Given the description of an element on the screen output the (x, y) to click on. 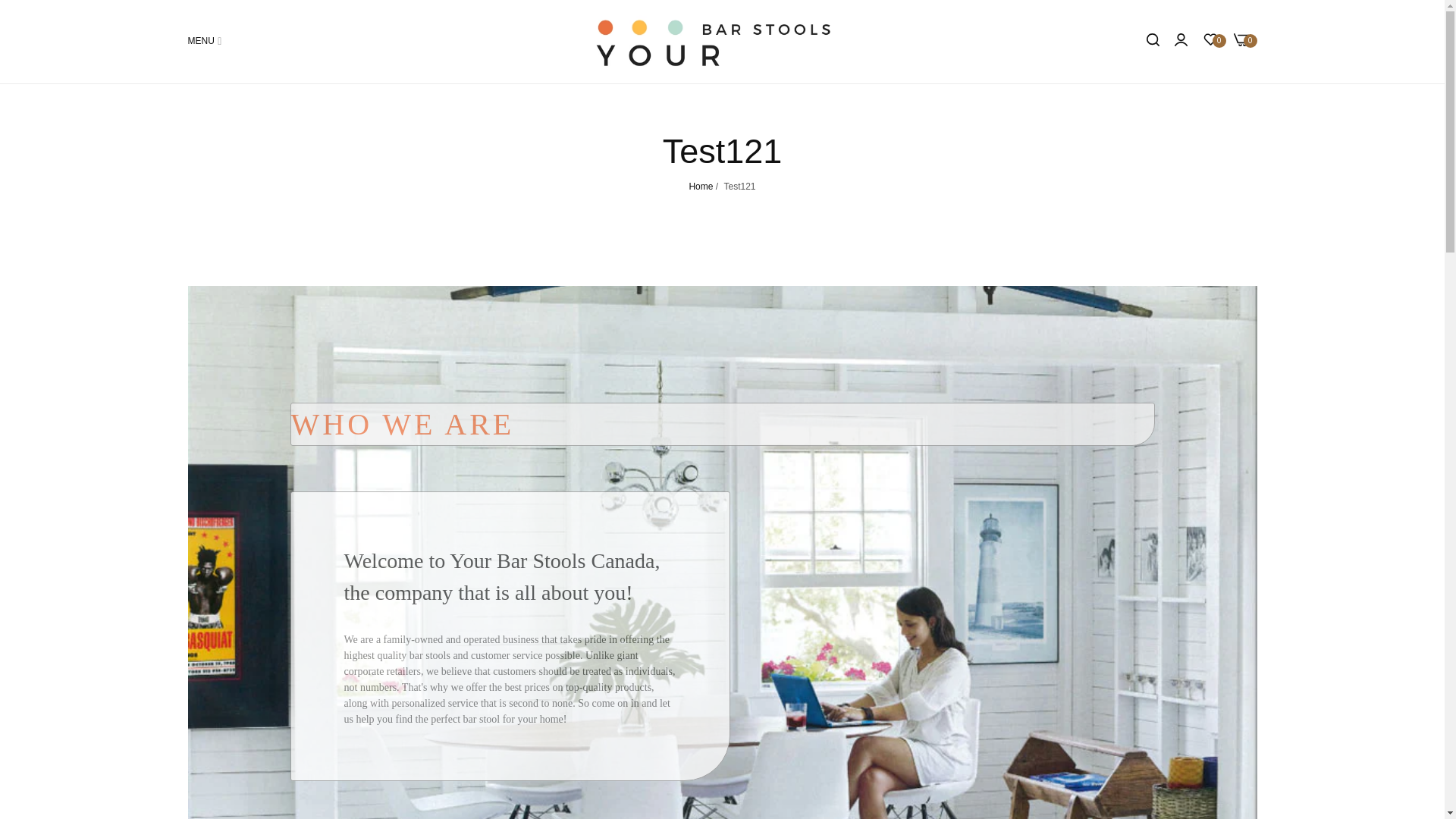
Home (700, 185)
0 (1241, 40)
Your Bar Stools Canada (722, 41)
0 (1210, 40)
MENU (204, 40)
